Given the description of an element on the screen output the (x, y) to click on. 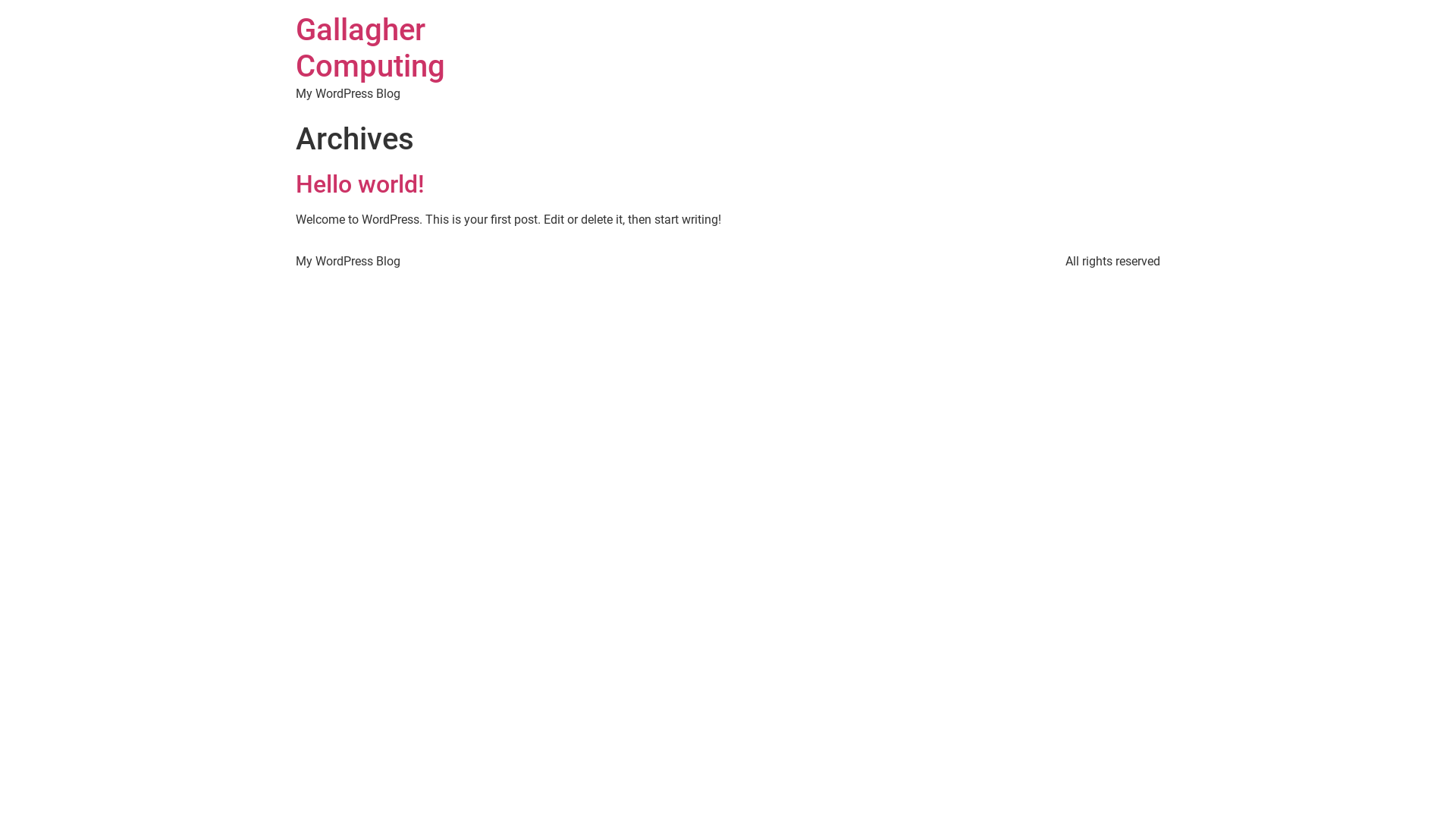
Hello world! Element type: text (359, 183)
Gallagher Computing Element type: text (370, 48)
